Given the description of an element on the screen output the (x, y) to click on. 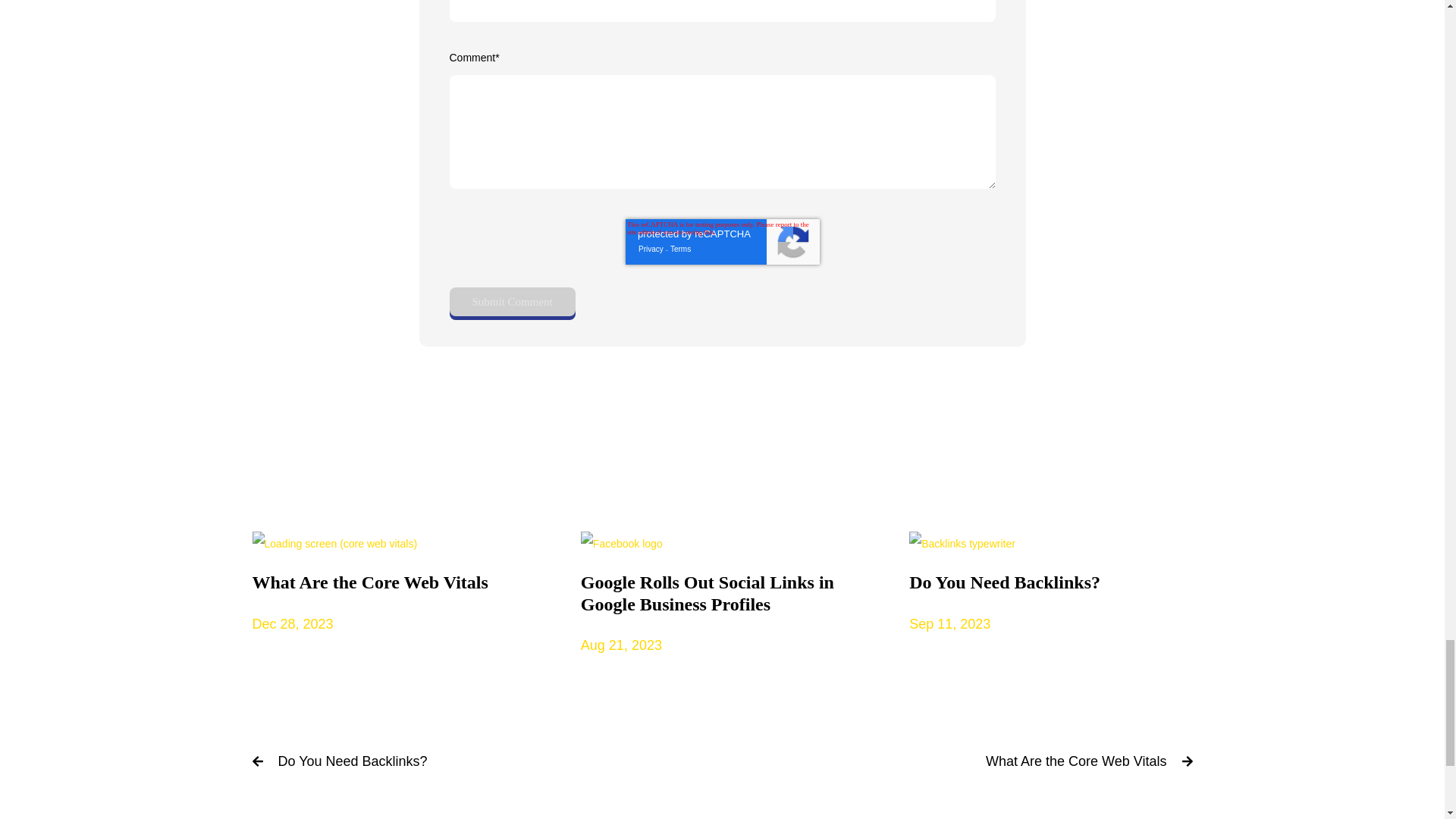
Submit Comment (511, 301)
What Are the Core Web Vitals (1075, 761)
Do You Need Backlinks? (352, 761)
reCAPTCHA (721, 241)
Submit Comment (392, 585)
